Given the description of an element on the screen output the (x, y) to click on. 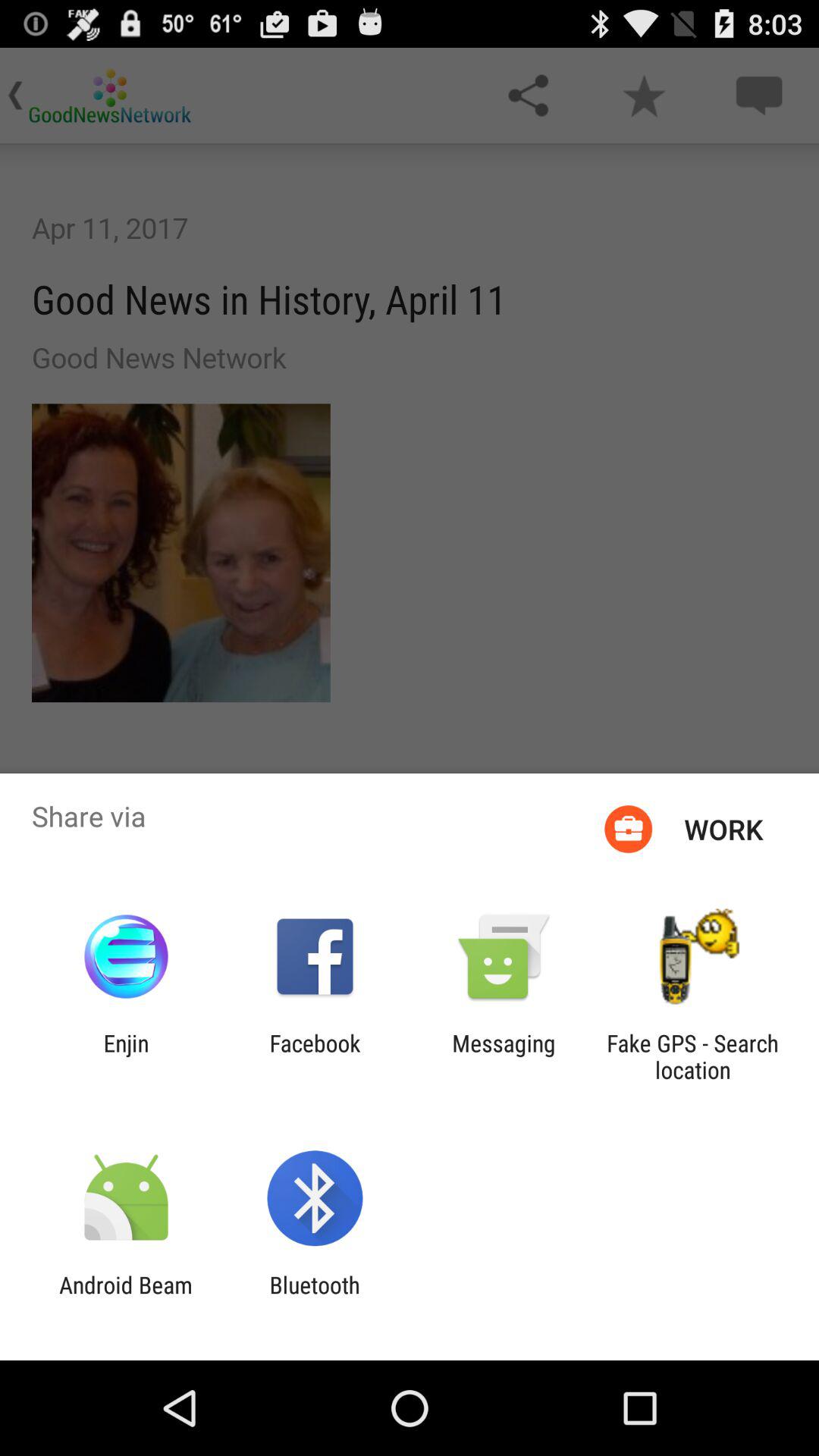
click bluetooth (314, 1298)
